Given the description of an element on the screen output the (x, y) to click on. 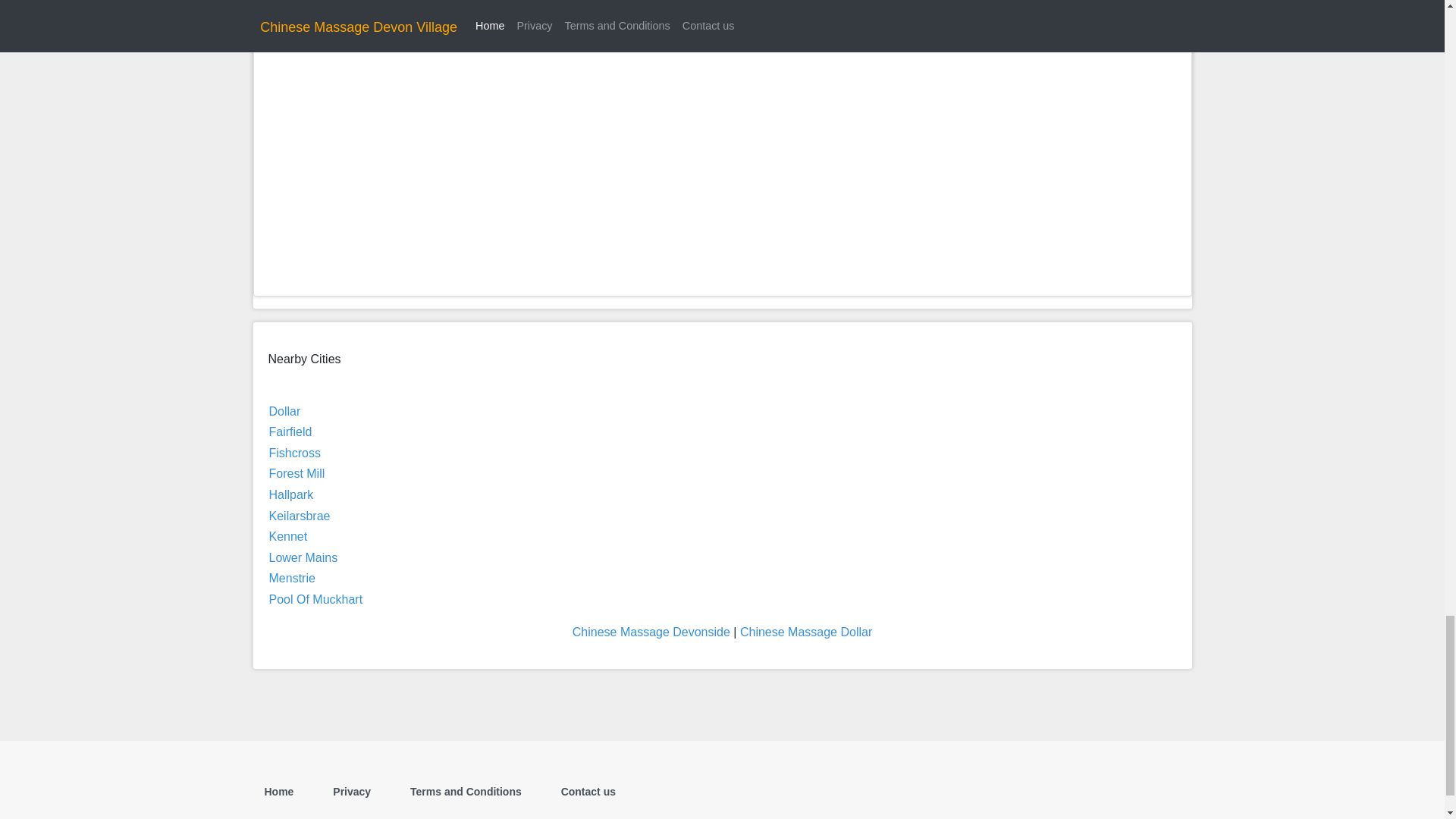
Keilarsbrae (298, 515)
Chinese Massage Devonside (651, 631)
Hallpark (290, 494)
Fairfield (289, 431)
Menstrie (290, 577)
Chinese Massage Dollar (805, 631)
Pool Of Muckhart (314, 599)
Lower Mains (302, 557)
Forest Mill (295, 472)
Fishcross (293, 452)
